Given the description of an element on the screen output the (x, y) to click on. 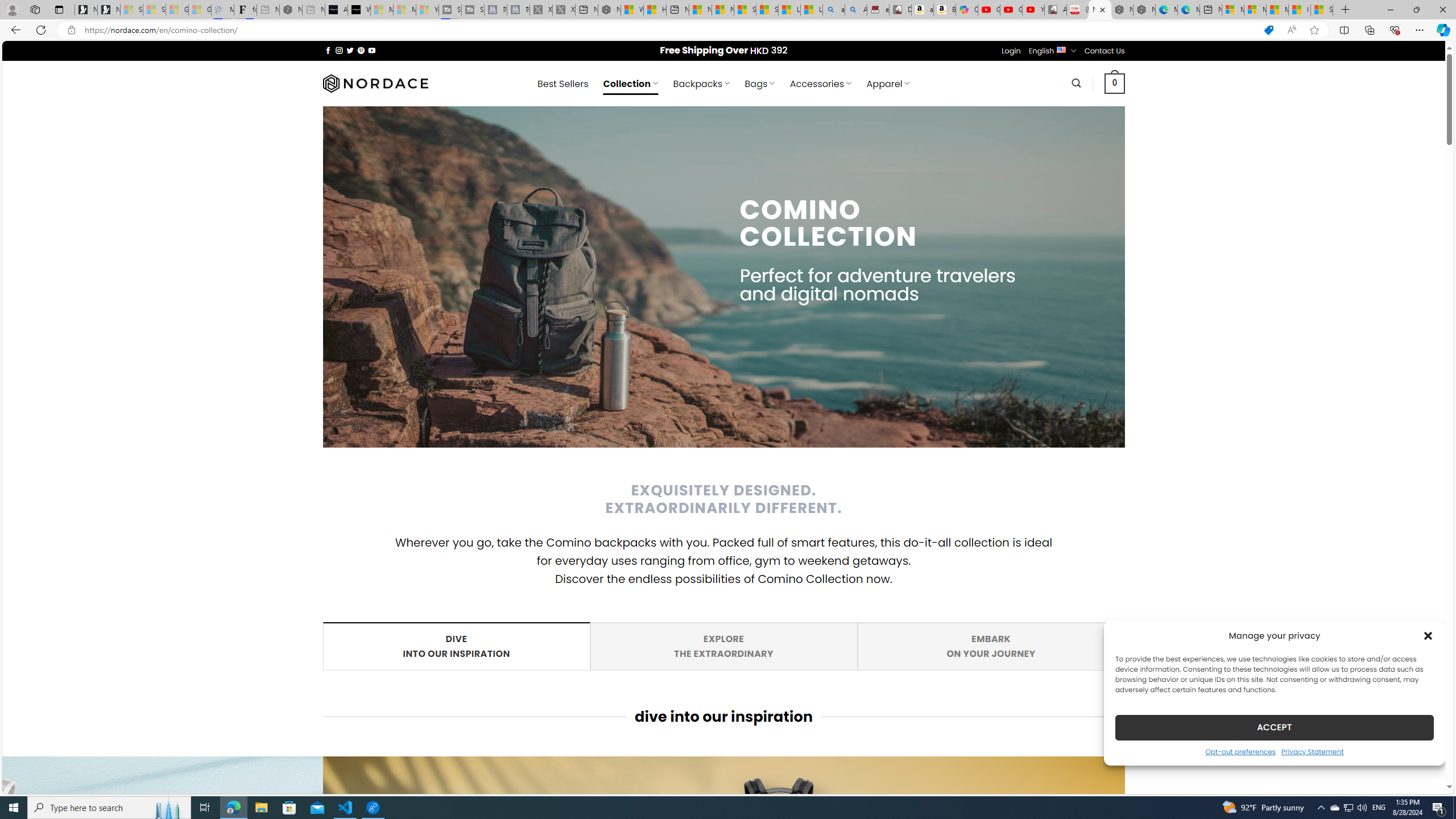
amazon - Search (834, 9)
Follow on Twitter (349, 49)
This site has coupons! Shopping in Microsoft Edge (1268, 29)
 Best Sellers (562, 83)
English (1061, 49)
All Cubot phones (1055, 9)
Nordace - #1 Japanese Best-Seller - Siena Smart Backpack (291, 9)
